Given the description of an element on the screen output the (x, y) to click on. 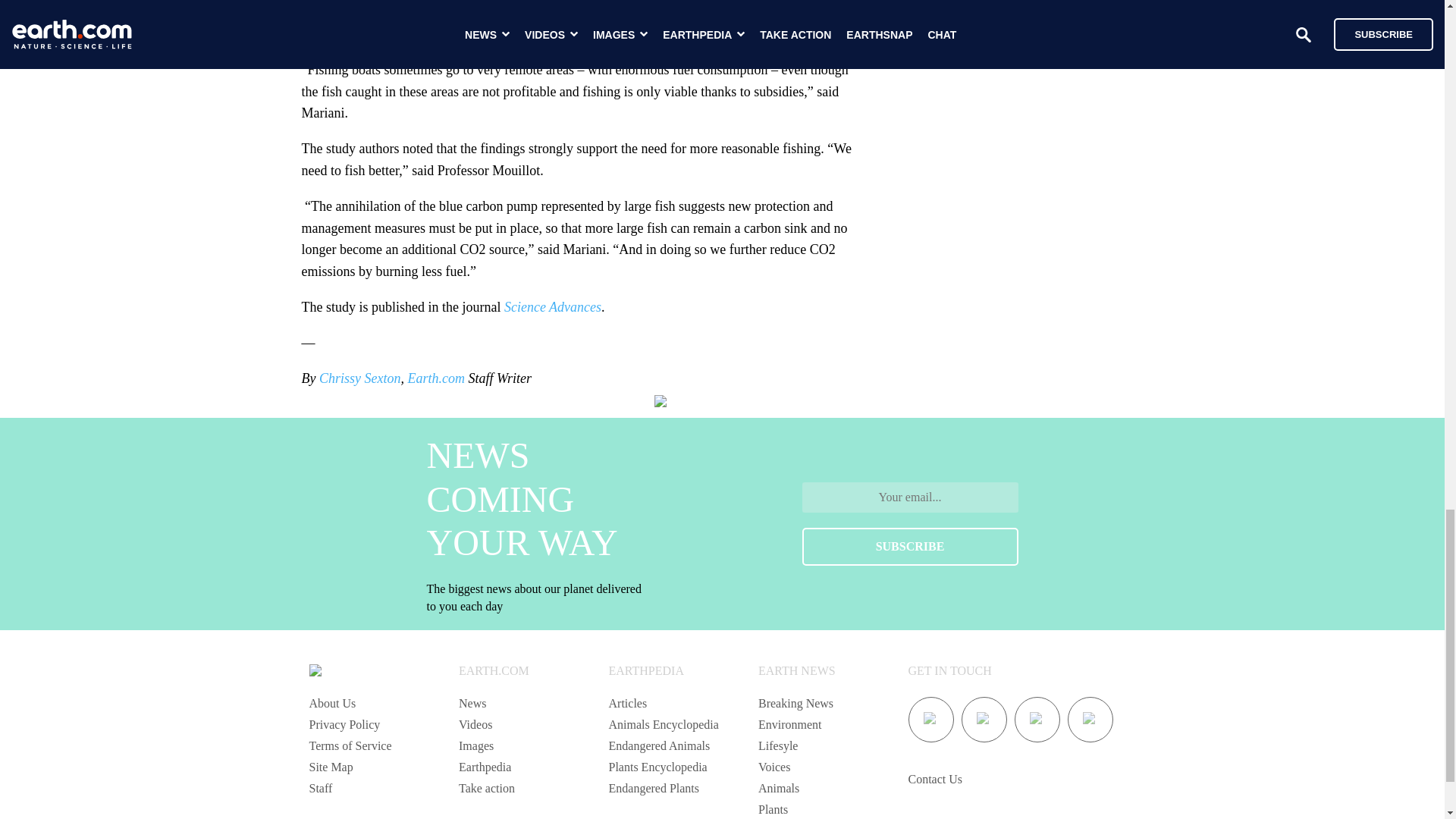
Science Advances (552, 306)
Chrissy Sexton (359, 378)
SUBSCRIBE (909, 546)
Earth.com (435, 378)
